Given the description of an element on the screen output the (x, y) to click on. 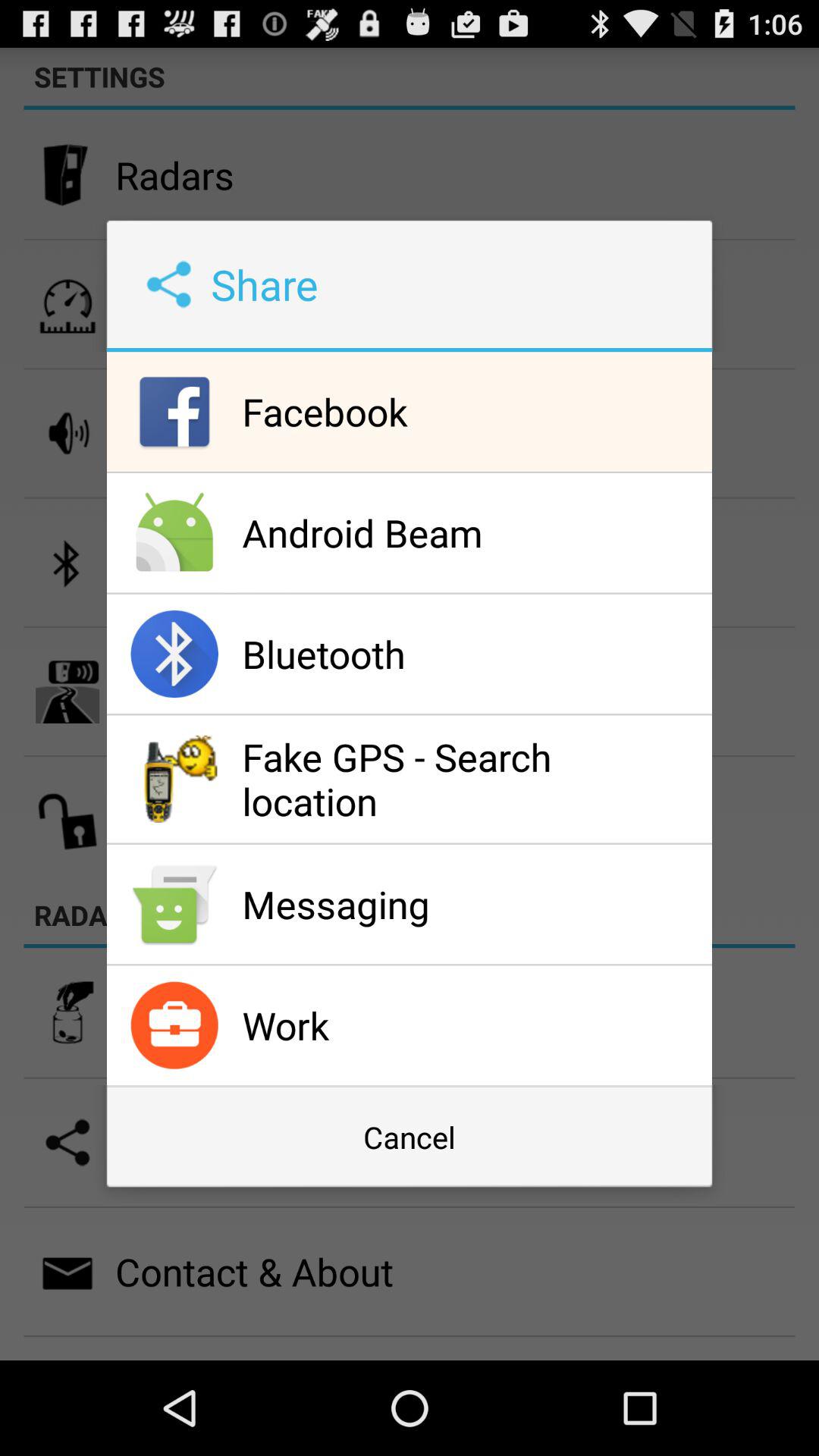
launch the icon above the fake gps search app (473, 653)
